Given the description of an element on the screen output the (x, y) to click on. 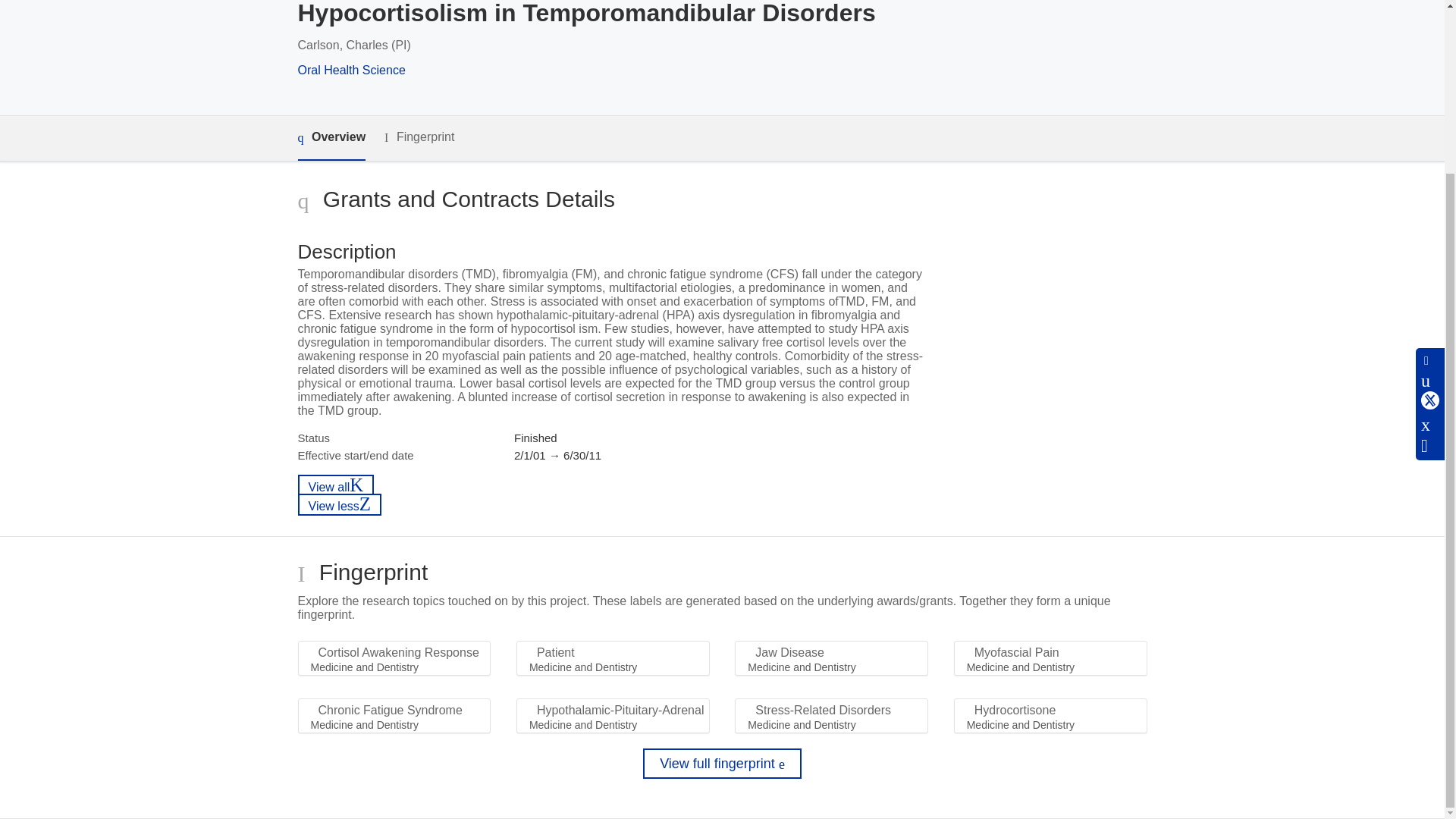
Overview (331, 138)
View less (339, 504)
View full fingerprint (722, 763)
Fingerprint (419, 137)
Oral Health Science (350, 69)
View all (335, 485)
